Given the description of an element on the screen output the (x, y) to click on. 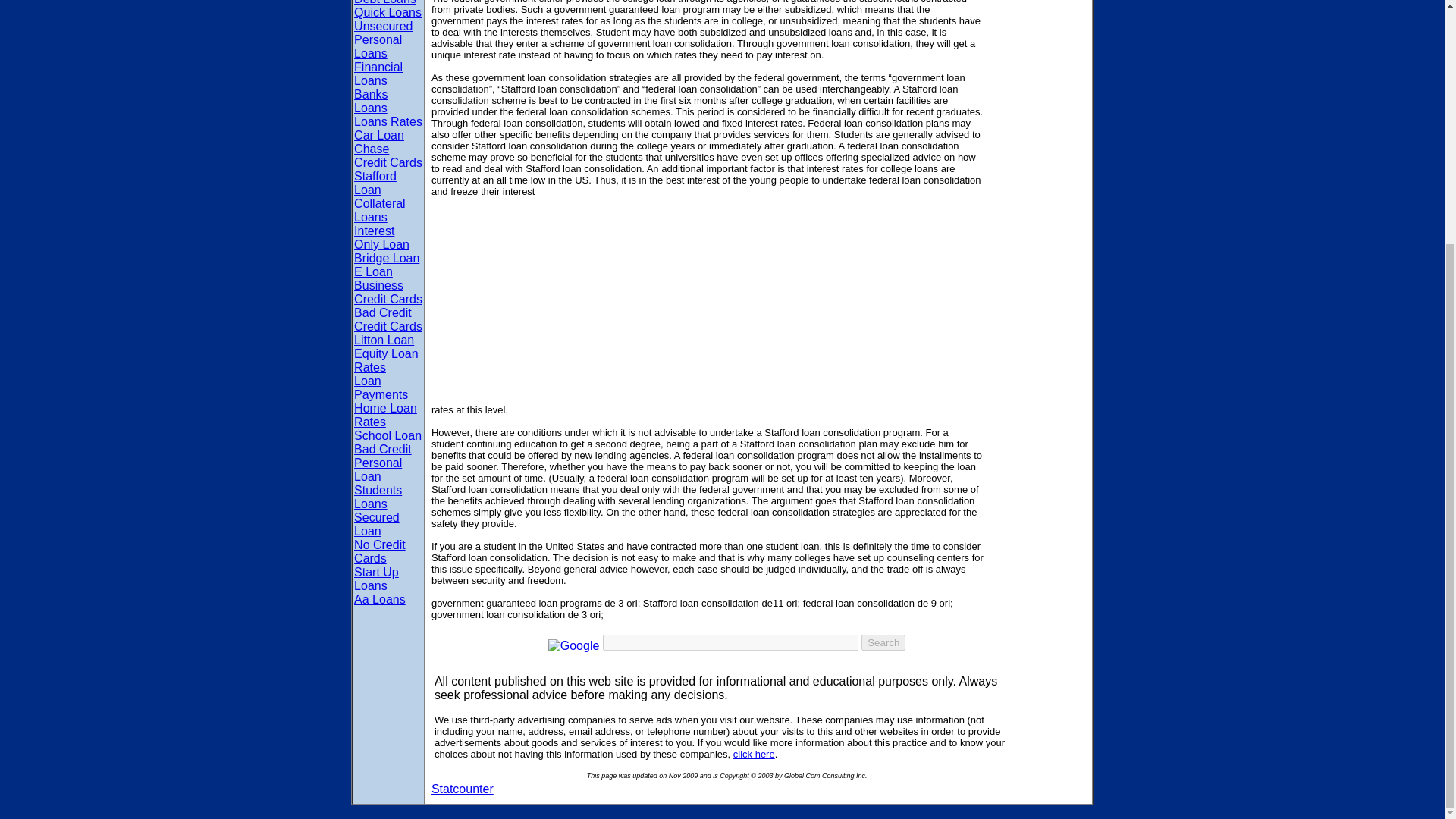
Loans Rates (387, 121)
Financial Loans (378, 73)
Start Up Loans (375, 578)
Home Loan Rates (384, 415)
Litton Loan (383, 339)
Quick Loans (387, 11)
Banks Loans (370, 100)
Students Loans (377, 497)
Bad Credit Personal Loan (382, 463)
Stafford Loan (374, 182)
School Loan (387, 435)
Chase Credit Cards (387, 155)
Car Loan (378, 134)
Bridge Loan (386, 257)
No Credit Cards (379, 551)
